Given the description of an element on the screen output the (x, y) to click on. 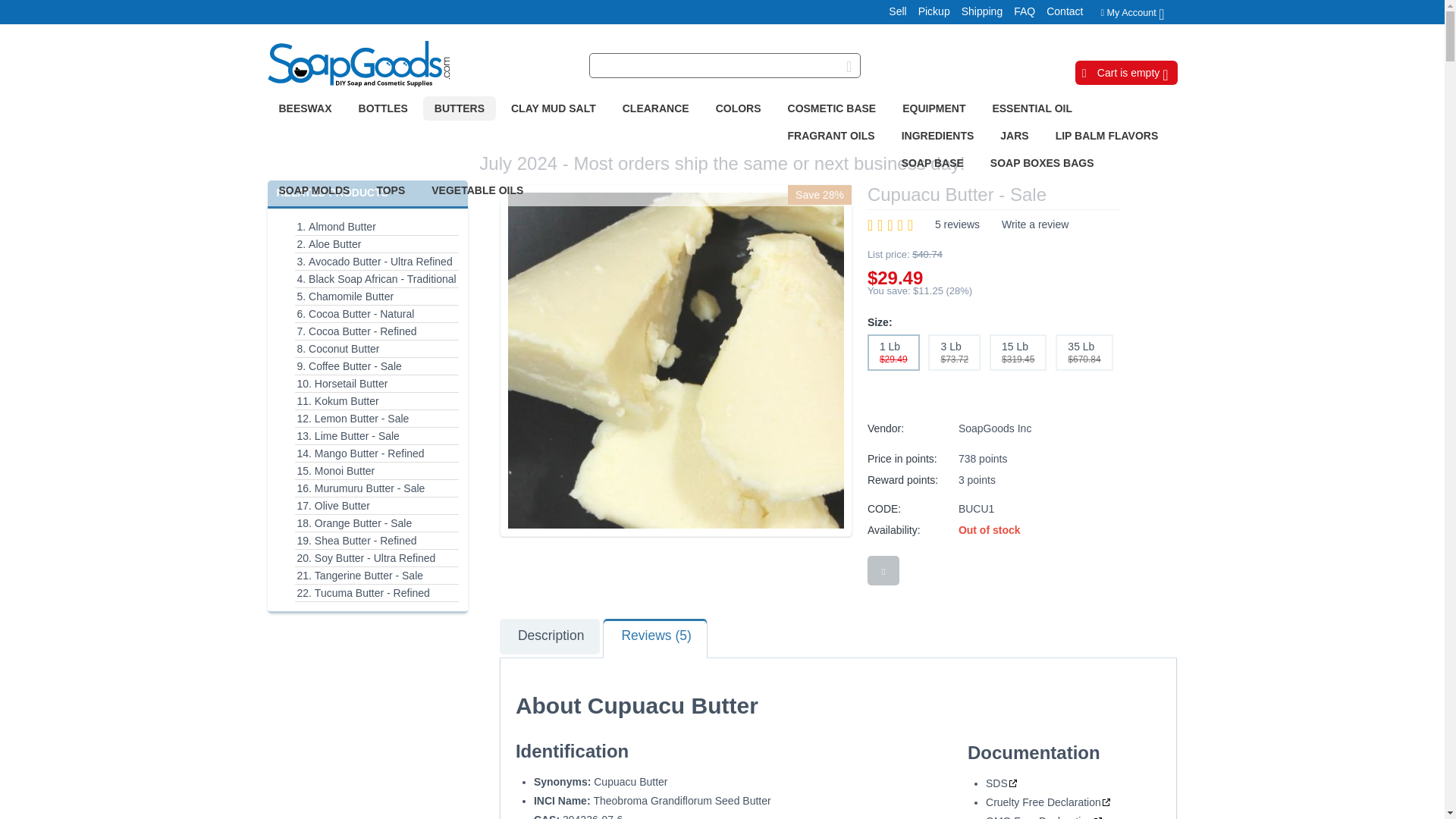
Shipping (976, 10)
Cart is empty (1125, 72)
Pickup (928, 10)
Write a review (1034, 224)
GMO Free Declaration Opens in New Window (1044, 815)
Cupuacu Butter (676, 360)
CLEARANCE (655, 108)
Contact (1059, 10)
CLAY MUD SALT (553, 108)
ESSENTIAL OIL (1031, 108)
Sell (891, 10)
Add to Wishlist (883, 570)
Soapgoods (357, 63)
COSMETIC BASE (832, 108)
COLORS (738, 108)
